Given the description of an element on the screen output the (x, y) to click on. 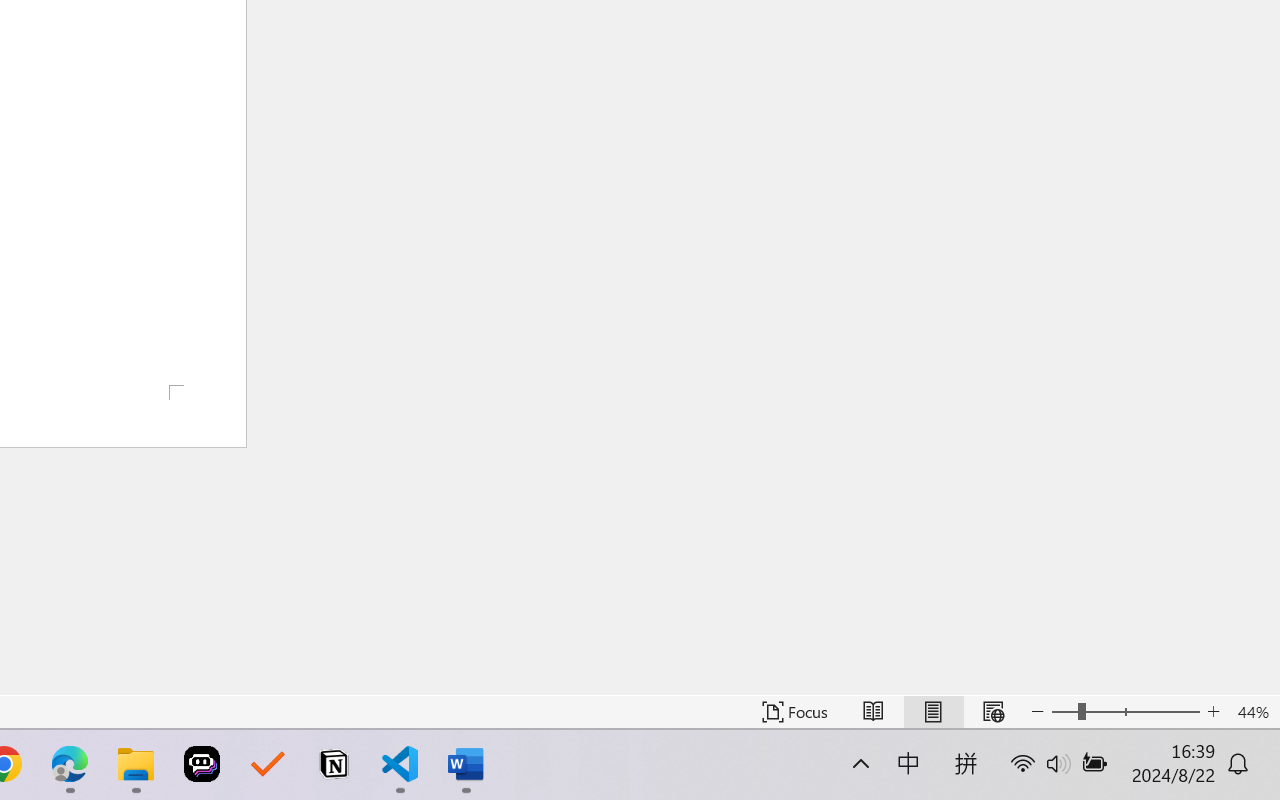
Poe (201, 764)
Zoom 44% (1253, 712)
